Given the description of an element on the screen output the (x, y) to click on. 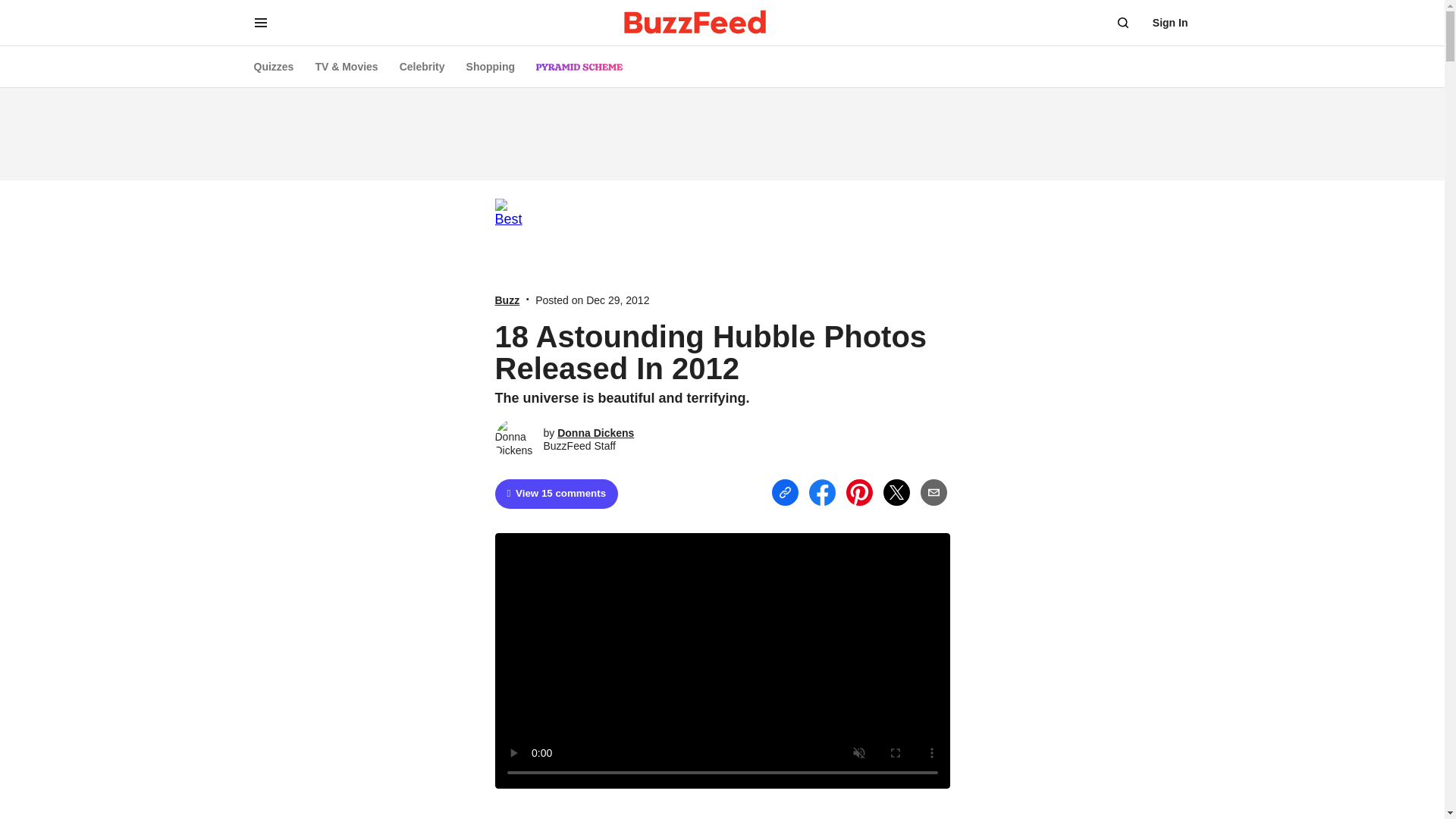
Pinterest (858, 492)
Sign In (1170, 22)
Link (784, 491)
Facebook (821, 492)
Mail (933, 491)
Twitter (895, 492)
